Given the description of an element on the screen output the (x, y) to click on. 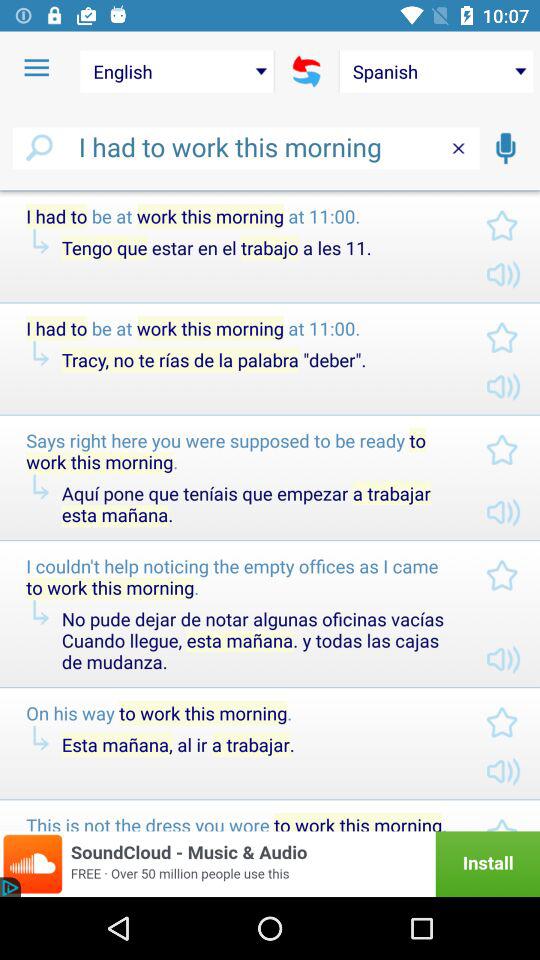
scroll to the says right here (239, 451)
